Given the description of an element on the screen output the (x, y) to click on. 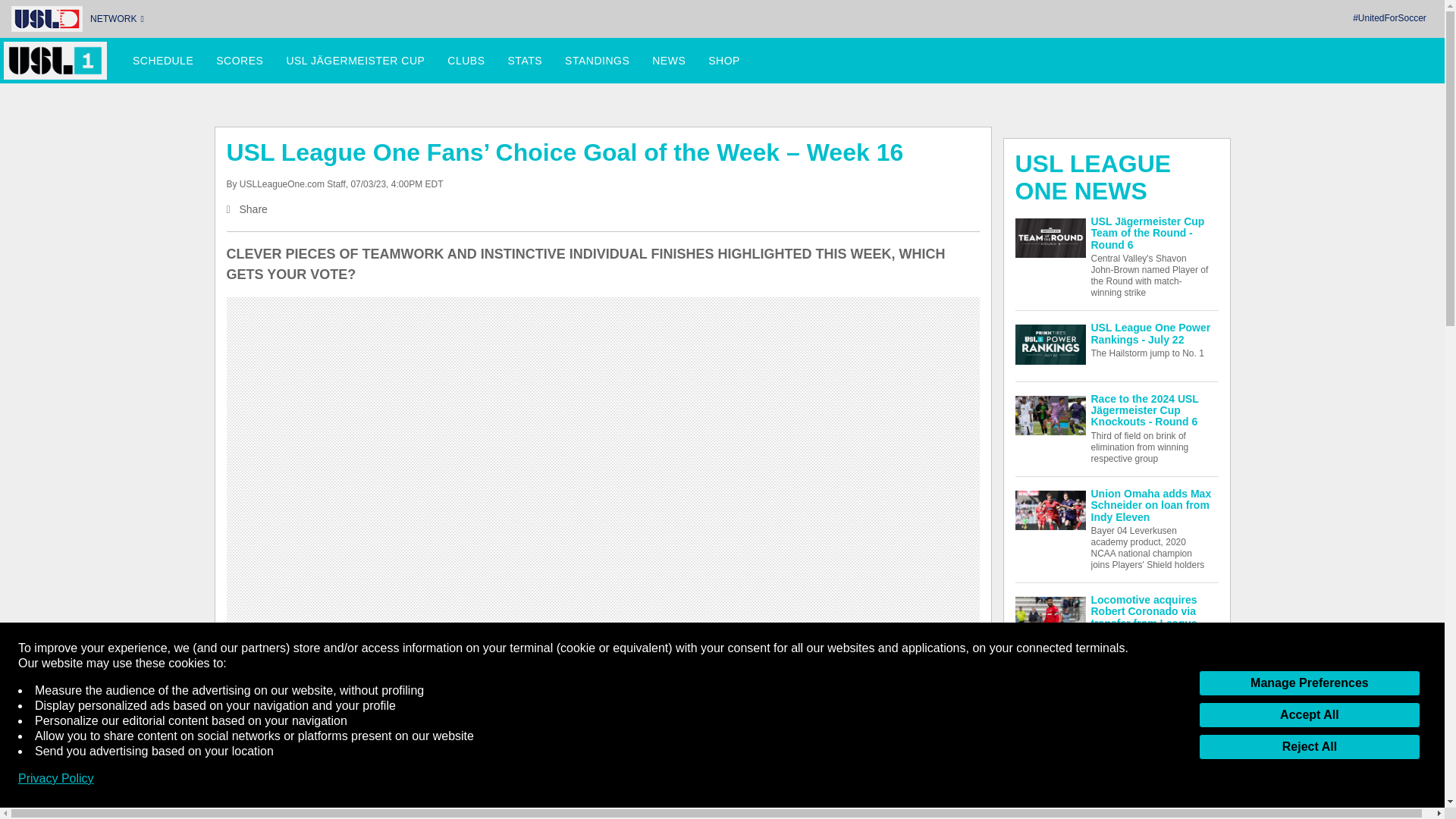
click to go to 'USL Soccer Shop' (724, 60)
Manage Preferences (1309, 683)
Accept All (1309, 714)
Reject All (1309, 746)
click to go to 'Scores' (240, 60)
click to go to 'Prinx Performance Standings' (596, 60)
click to go to 'Stats' (525, 60)
click to go to 'News' (668, 60)
Privacy Policy (55, 778)
click to go to 'Schedule' (162, 60)
